Given the description of an element on the screen output the (x, y) to click on. 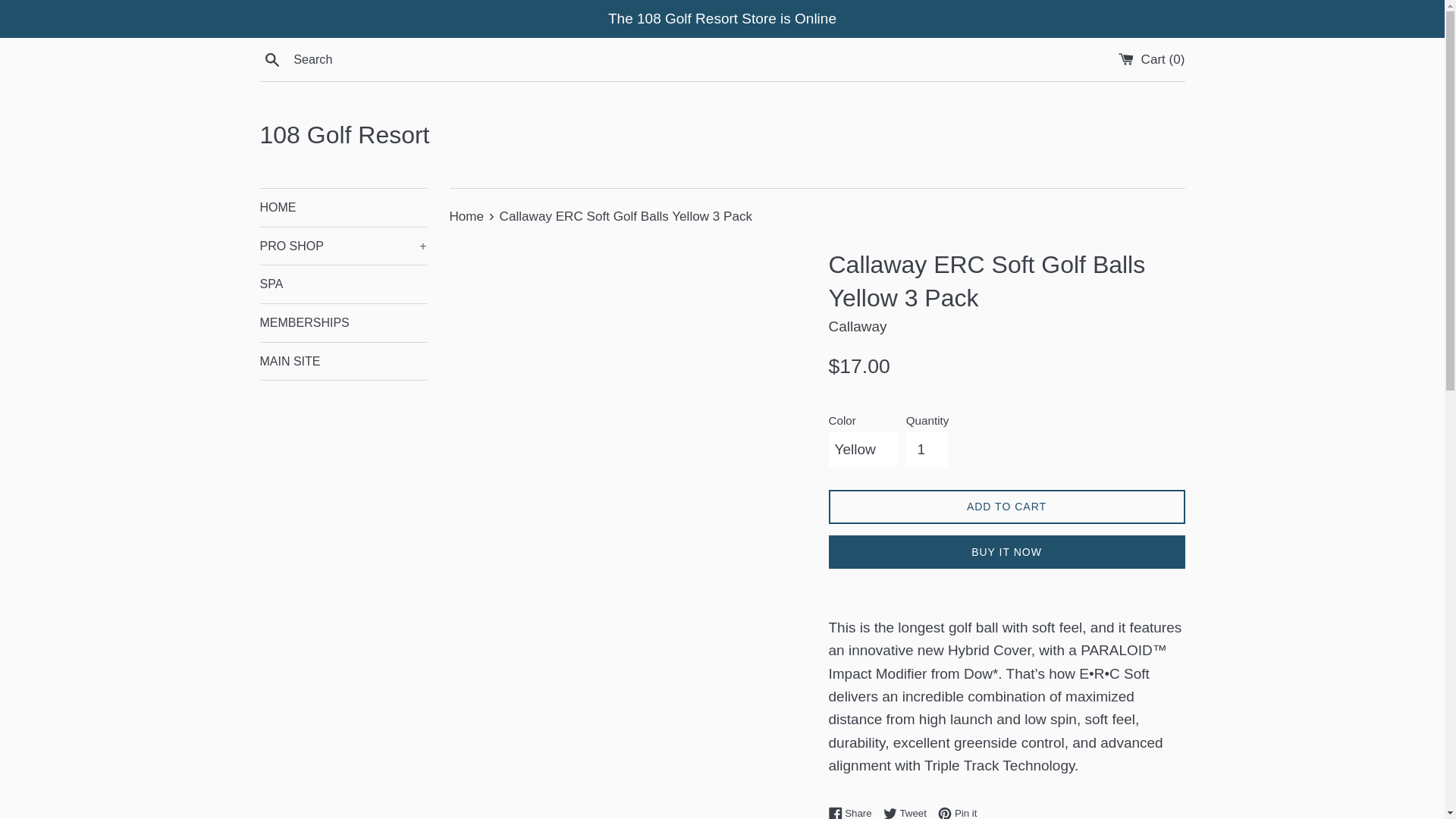
Cart (0) Element type: text (1151, 59)
108 Golf Resort Element type: text (721, 135)
SPA Element type: text (342, 284)
Search Element type: text (271, 59)
MAIN SITE Element type: text (342, 361)
BUY IT NOW Element type: text (1006, 552)
HOME Element type: text (342, 207)
PRO SHOP
+ Element type: text (342, 246)
Home Element type: text (467, 216)
MEMBERSHIPS Element type: text (342, 323)
ADD TO CART Element type: text (1006, 506)
